Given the description of an element on the screen output the (x, y) to click on. 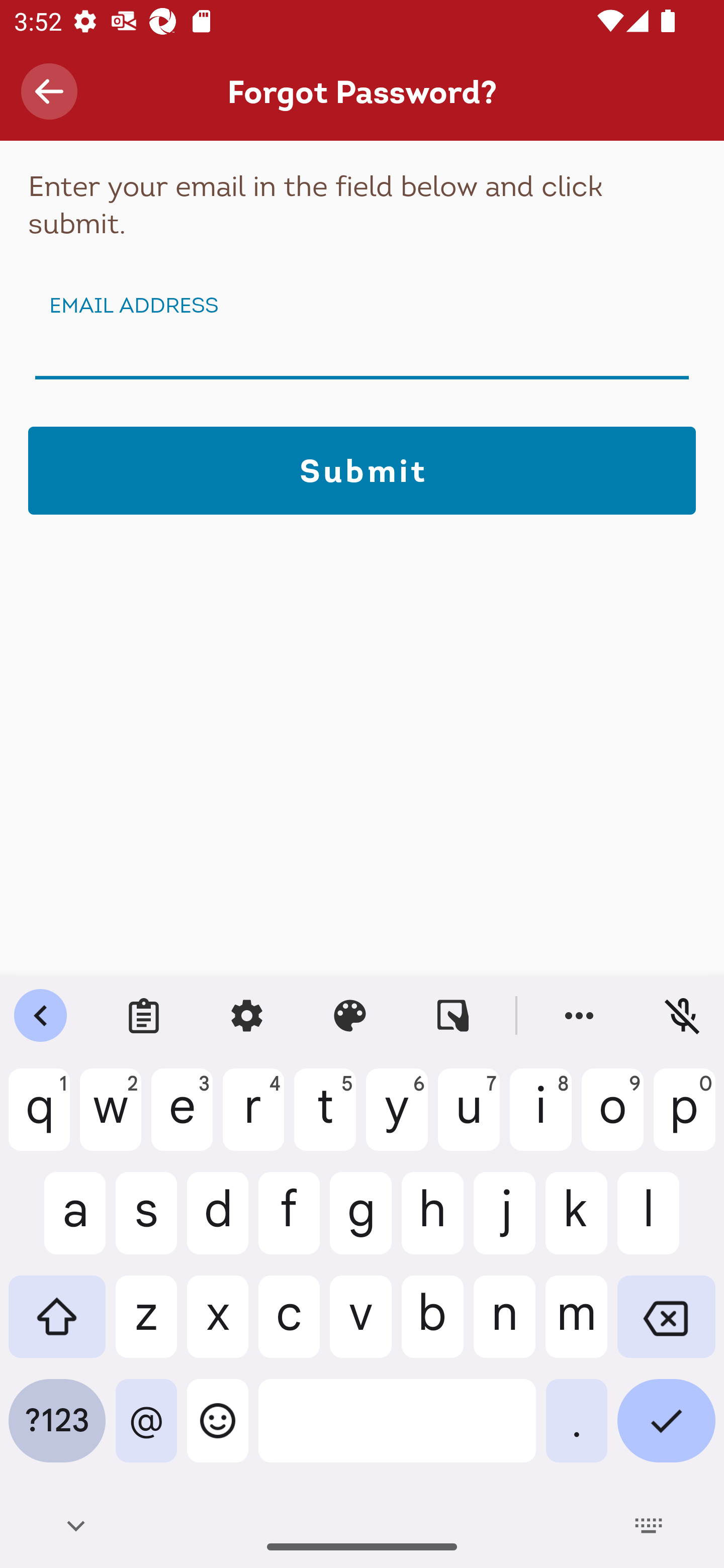
Back (49, 91)
EMAIL ADDRESS (361, 354)
Submit (361, 470)
